Given the description of an element on the screen output the (x, y) to click on. 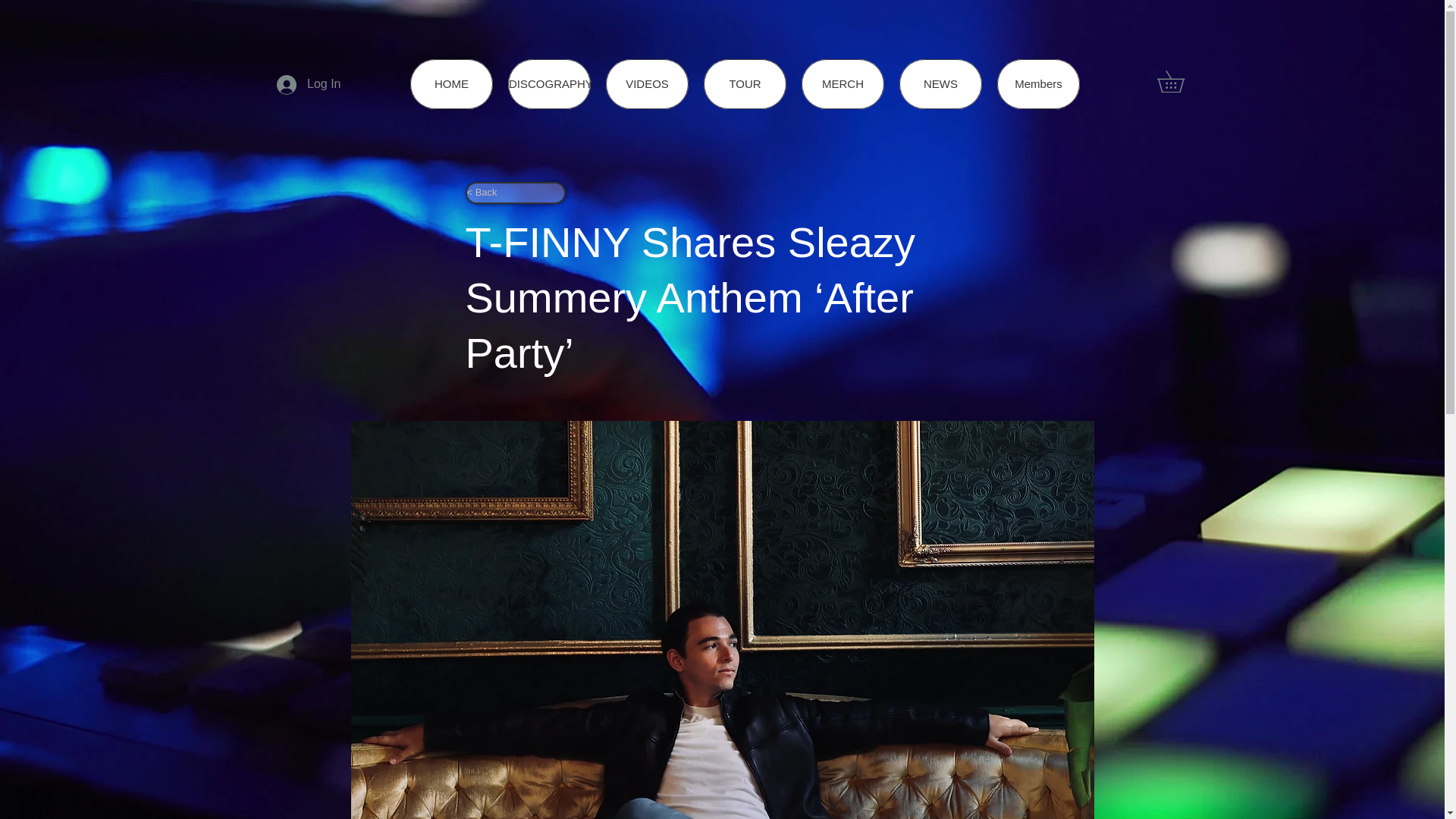
DISCOGRAPHY (549, 83)
HOME (451, 83)
Members (1038, 83)
MERCH (842, 83)
Log In (308, 83)
TOUR (744, 83)
VIDEOS (646, 83)
NEWS (940, 83)
